Given the description of an element on the screen output the (x, y) to click on. 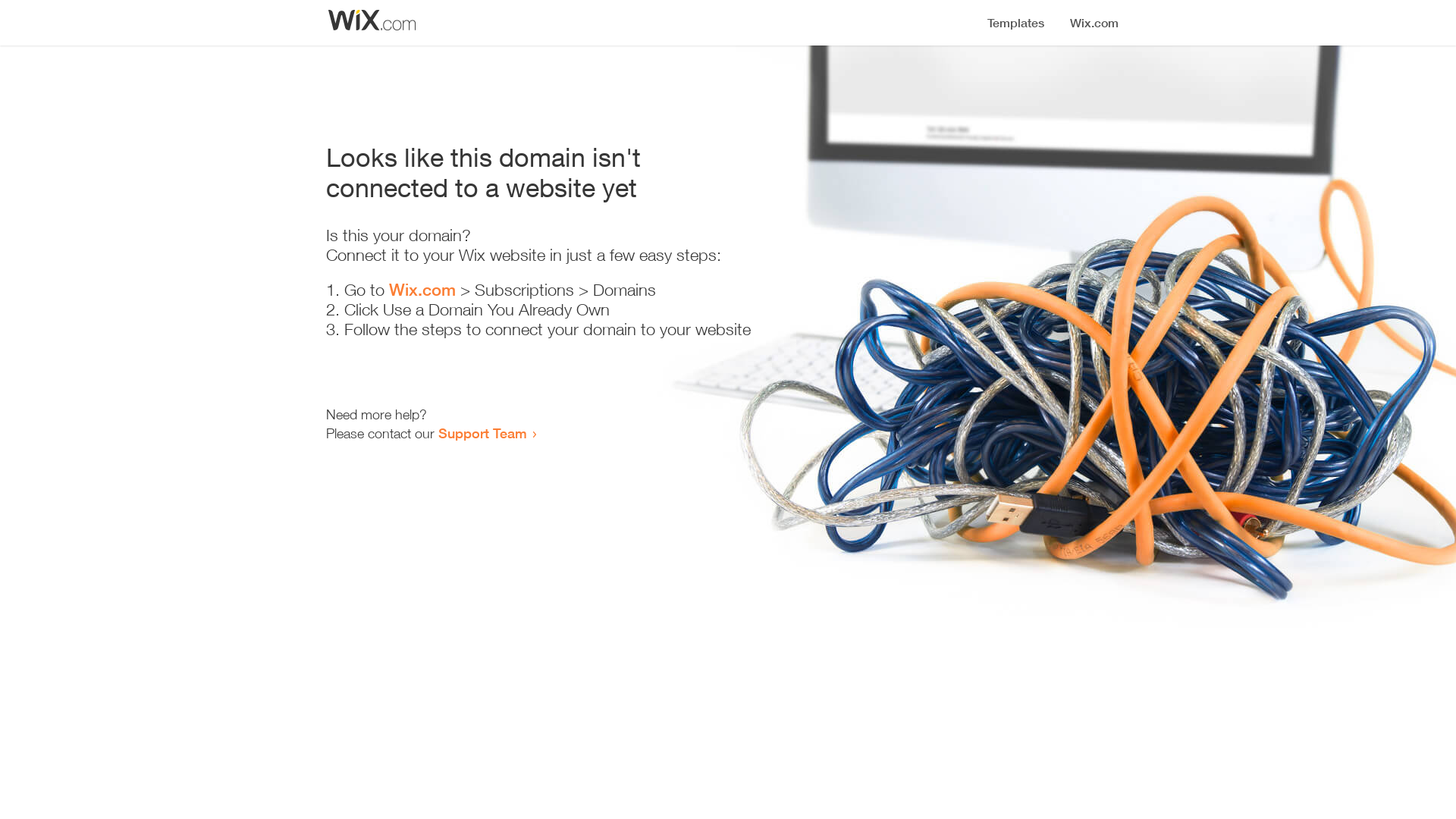
Wix.com Element type: text (422, 289)
Support Team Element type: text (482, 432)
